Given the description of an element on the screen output the (x, y) to click on. 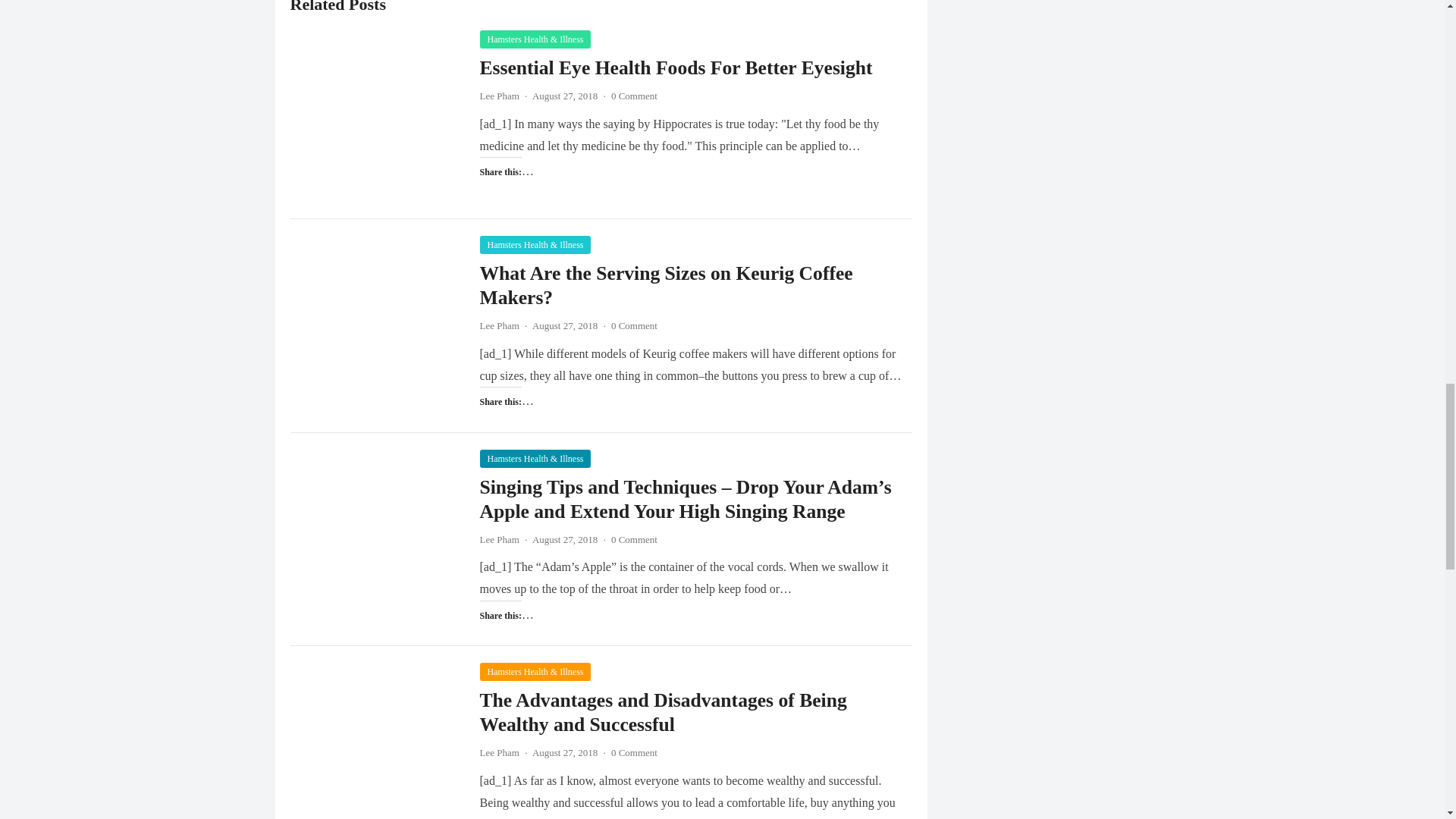
Posts by Lee Pham (498, 95)
Posts by Lee Pham (498, 325)
Posts by Lee Pham (498, 539)
What Are the Serving Sizes on Keurig Coffee Makers? 2 (376, 321)
Click to share on Facebook (521, 428)
Essential Eye Health Foods For Better Eyesight 1 (376, 115)
Click to share on Twitter (491, 428)
Click to share on Facebook (521, 641)
Click to share on Twitter (491, 641)
Click to share on Twitter (491, 199)
Click to share on Facebook (521, 199)
Posts by Lee Pham (498, 752)
